Given the description of an element on the screen output the (x, y) to click on. 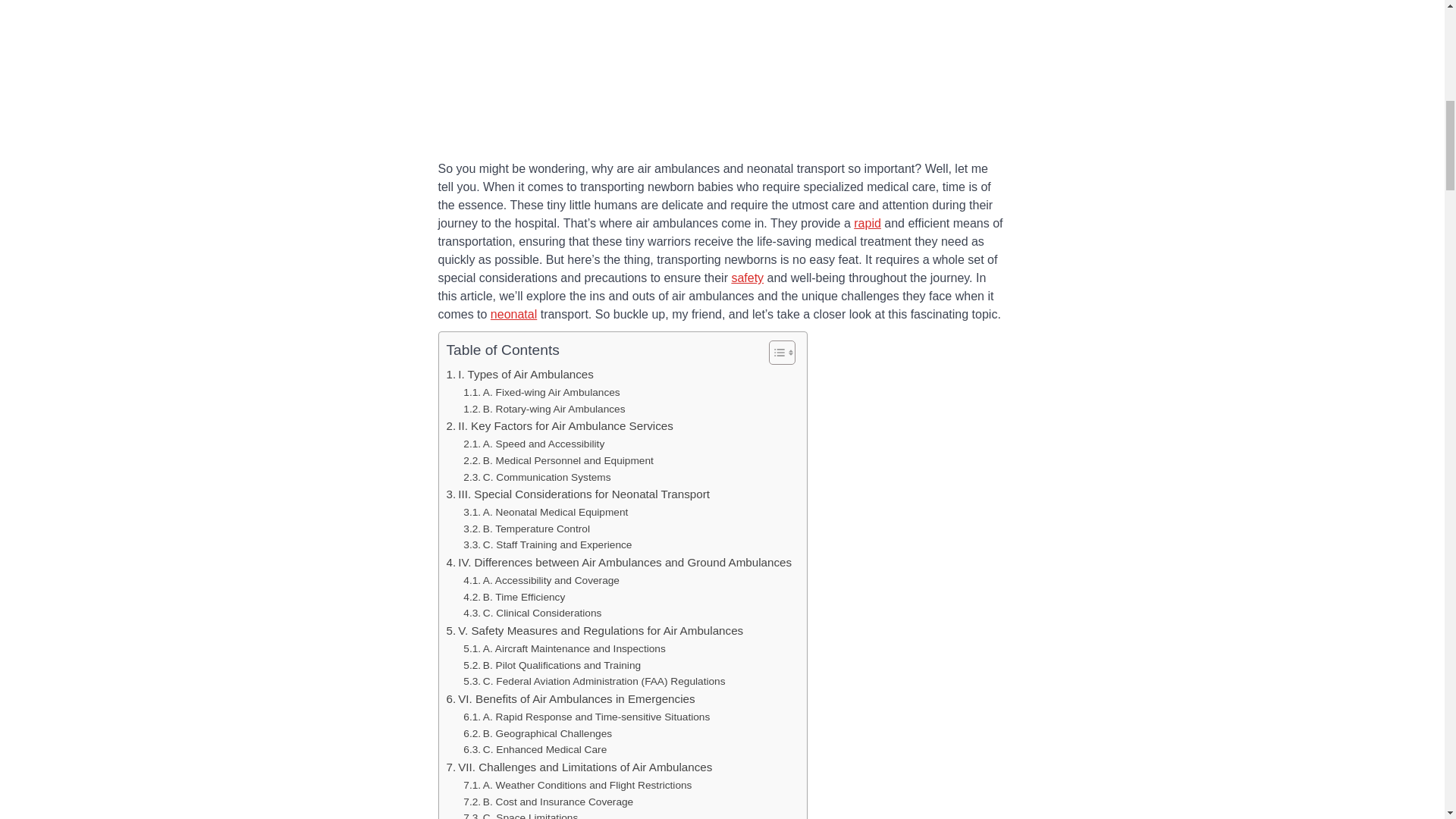
A. Neonatal Medical Equipment (545, 512)
safety (746, 277)
I. Types of Air Ambulances (518, 374)
C. Staff Training and Experience (547, 545)
B. Medical Personnel and Equipment (558, 460)
B. Time Efficiency (513, 597)
B. Rotary-wing Air Ambulances (543, 409)
rapid (866, 223)
safety (746, 277)
I. Types of Air Ambulances (518, 374)
